Given the description of an element on the screen output the (x, y) to click on. 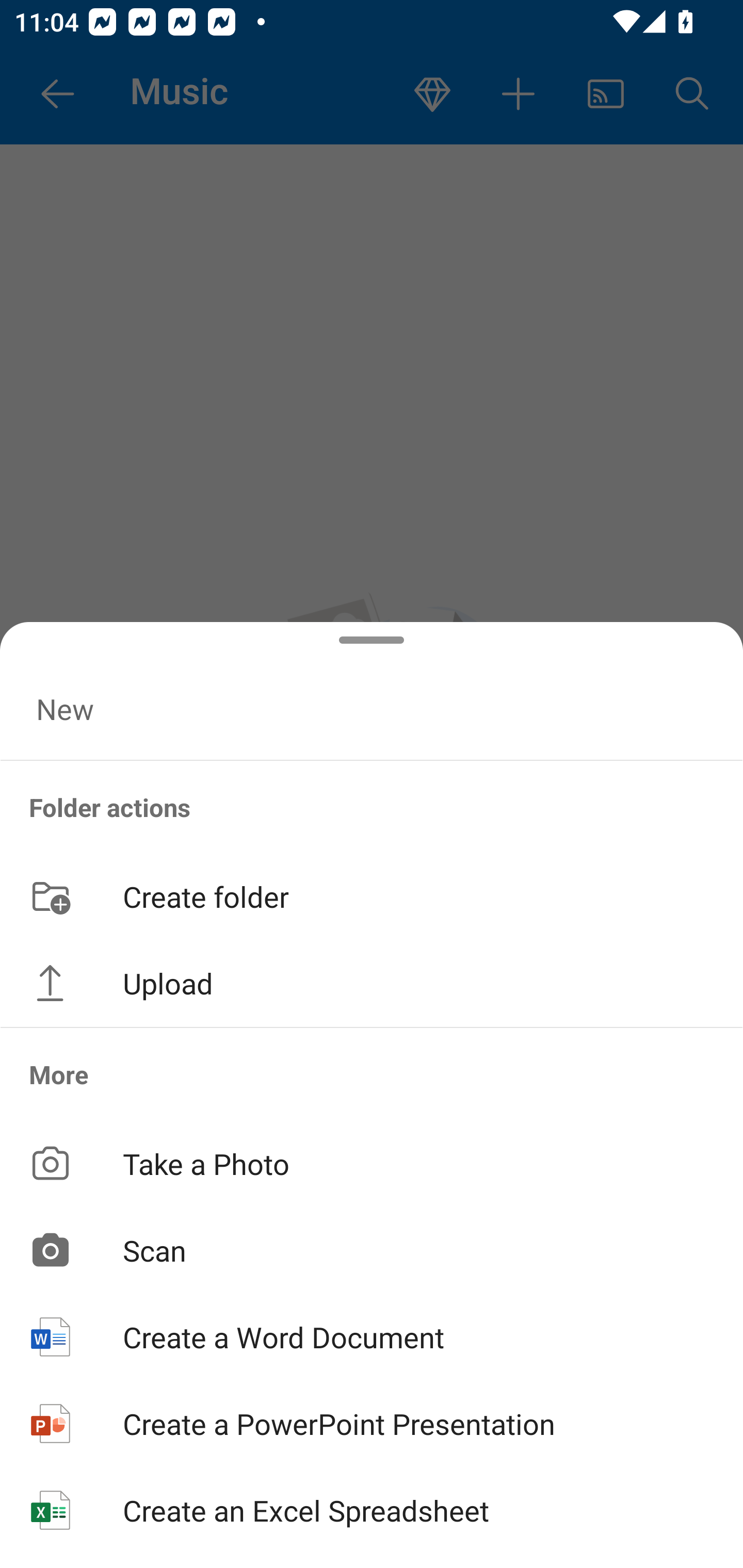
Create folder button Create folder (371, 895)
Upload button Upload (371, 983)
Take a Photo button Take a Photo (371, 1163)
Scan button Scan (371, 1250)
